Given the description of an element on the screen output the (x, y) to click on. 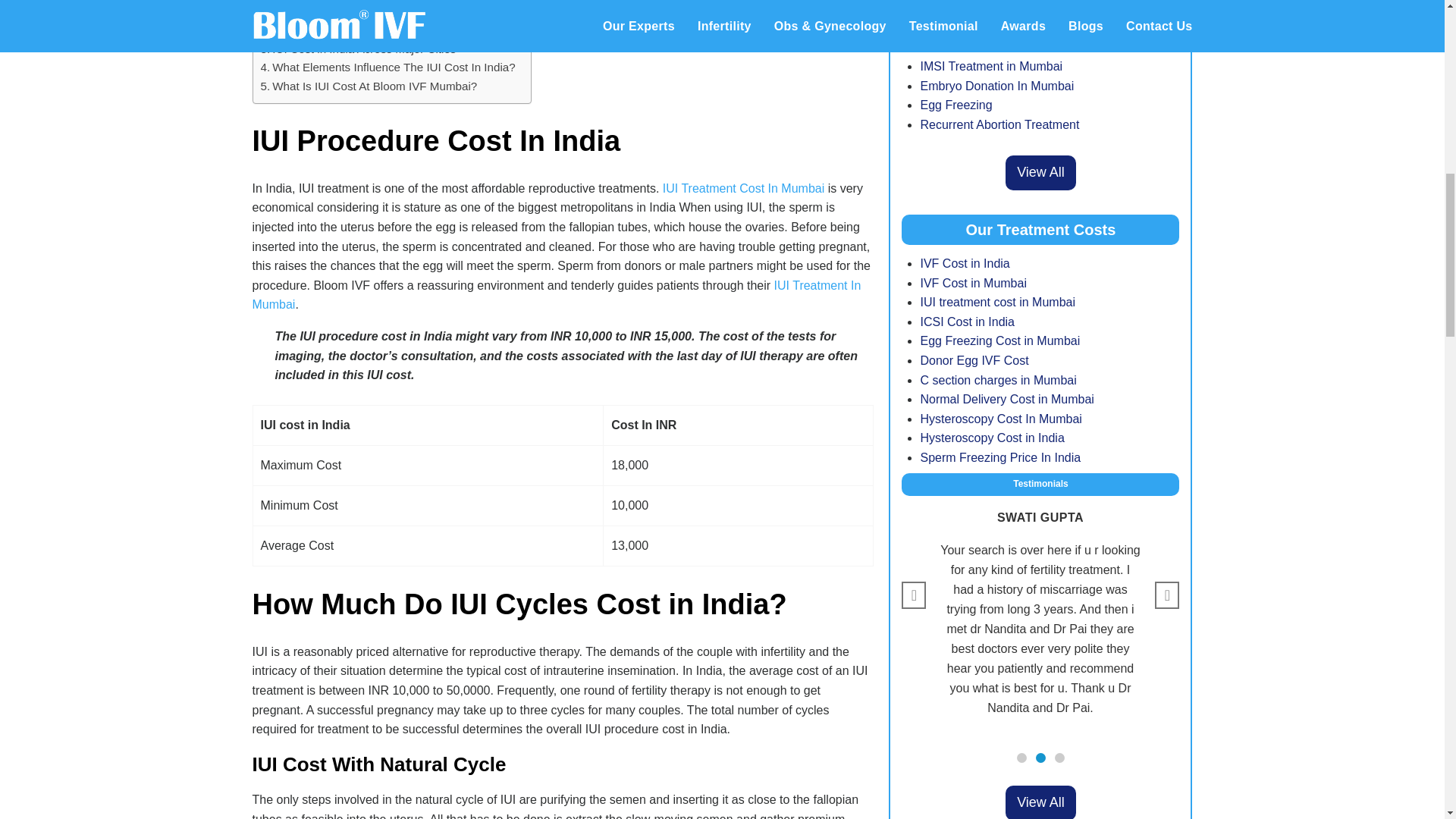
IUI Cost in India Across Major Cities (358, 49)
IUI Cost With Letrozole or Clomid (363, 14)
What Elements Influence The IUI Cost In India? (387, 67)
What Is IUI Cost At Bloom IVF Mumbai? (368, 85)
Hormones Combined With IUI (355, 31)
IUI Cost With Natural Cycle (350, 3)
